Given the description of an element on the screen output the (x, y) to click on. 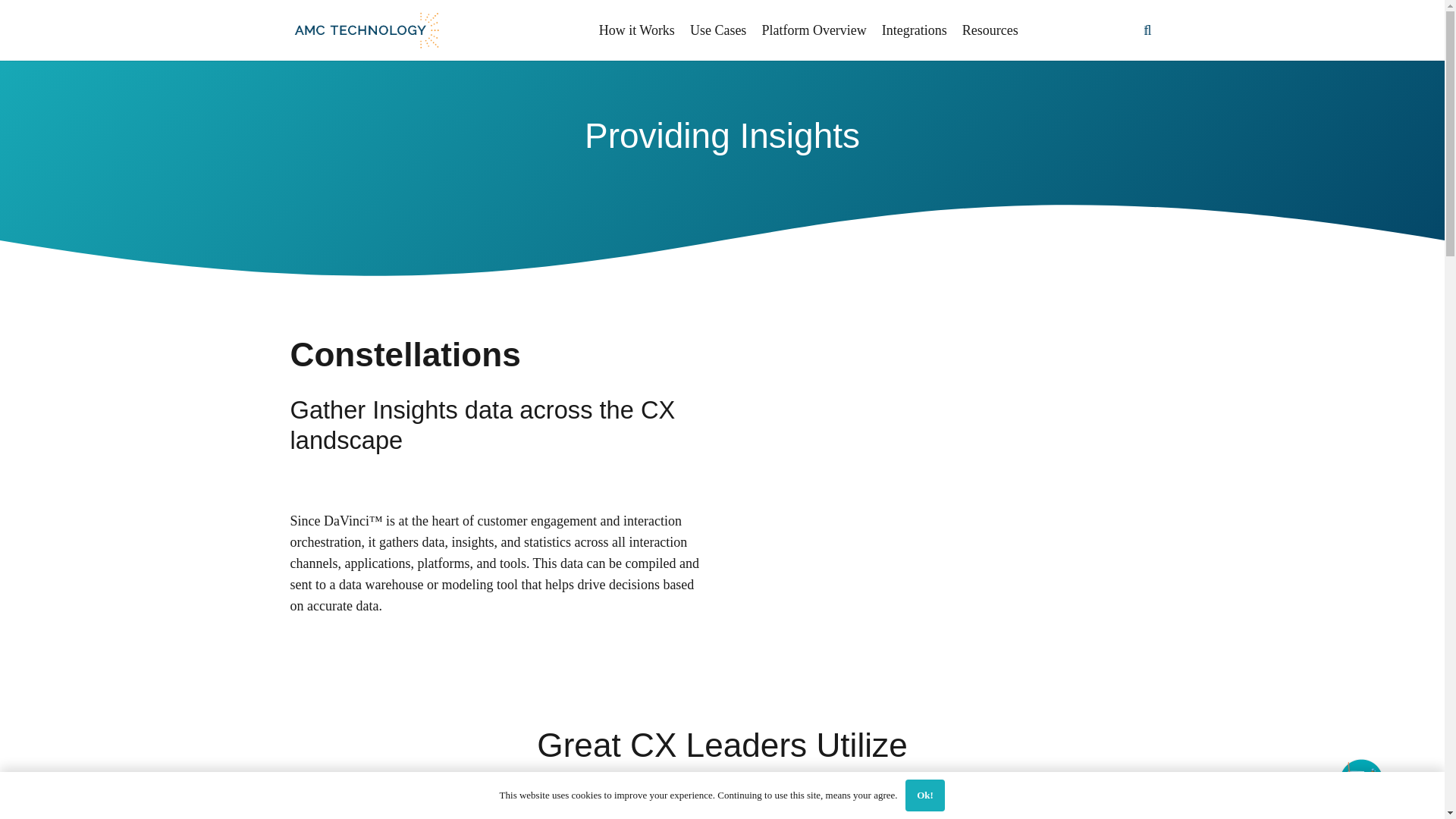
Platform Overview (813, 30)
How it Works (636, 30)
Use Cases (718, 30)
